Given the description of an element on the screen output the (x, y) to click on. 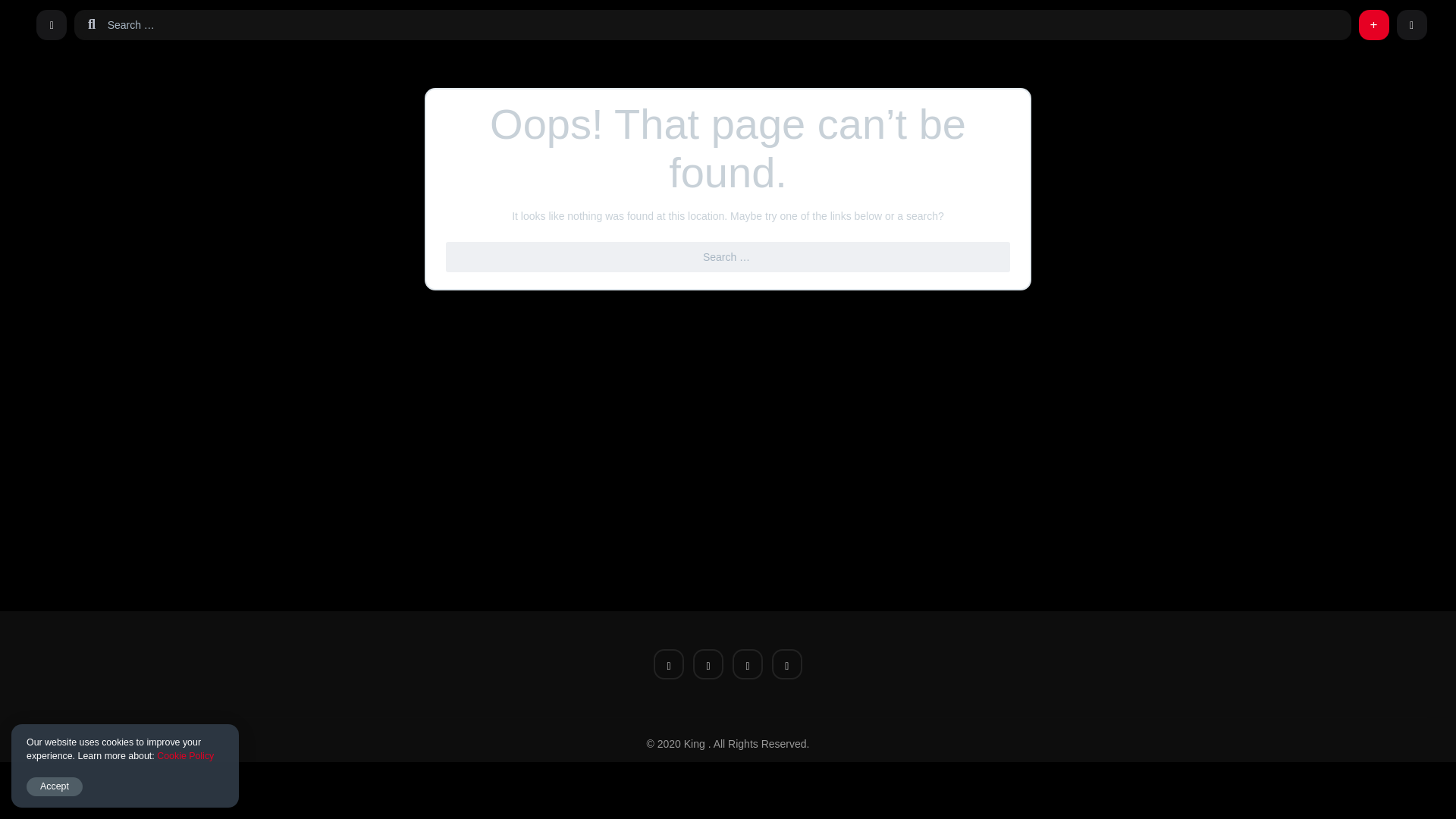
Cookie Policy (185, 756)
Search for: (726, 24)
Search (21, 9)
